Given the description of an element on the screen output the (x, y) to click on. 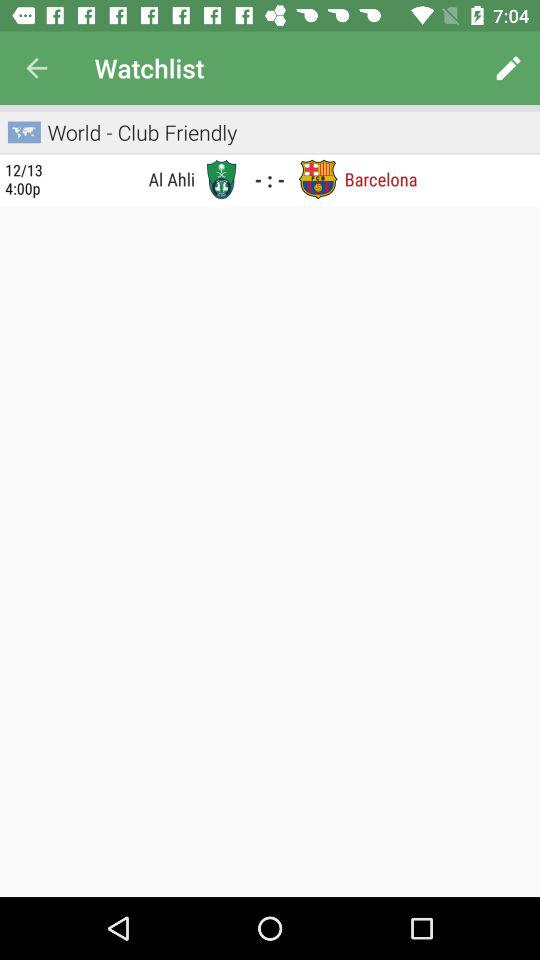
swipe to al ahli icon (125, 178)
